Given the description of an element on the screen output the (x, y) to click on. 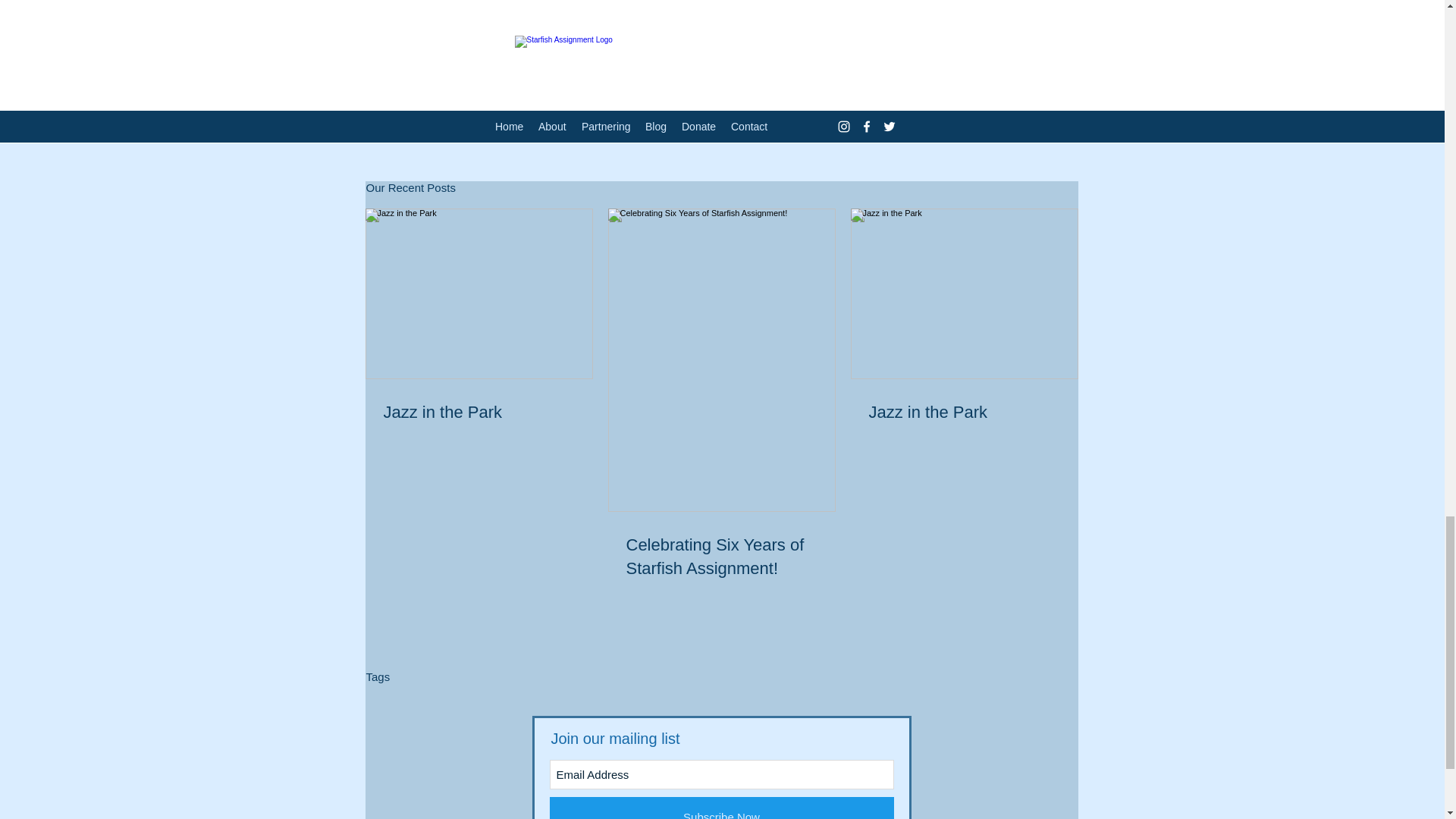
Jazz in the Park (964, 413)
Jazz in the Park (479, 413)
Celebrating Six Years of Starfish Assignment! (721, 556)
Subscribe Now (720, 807)
